Given the description of an element on the screen output the (x, y) to click on. 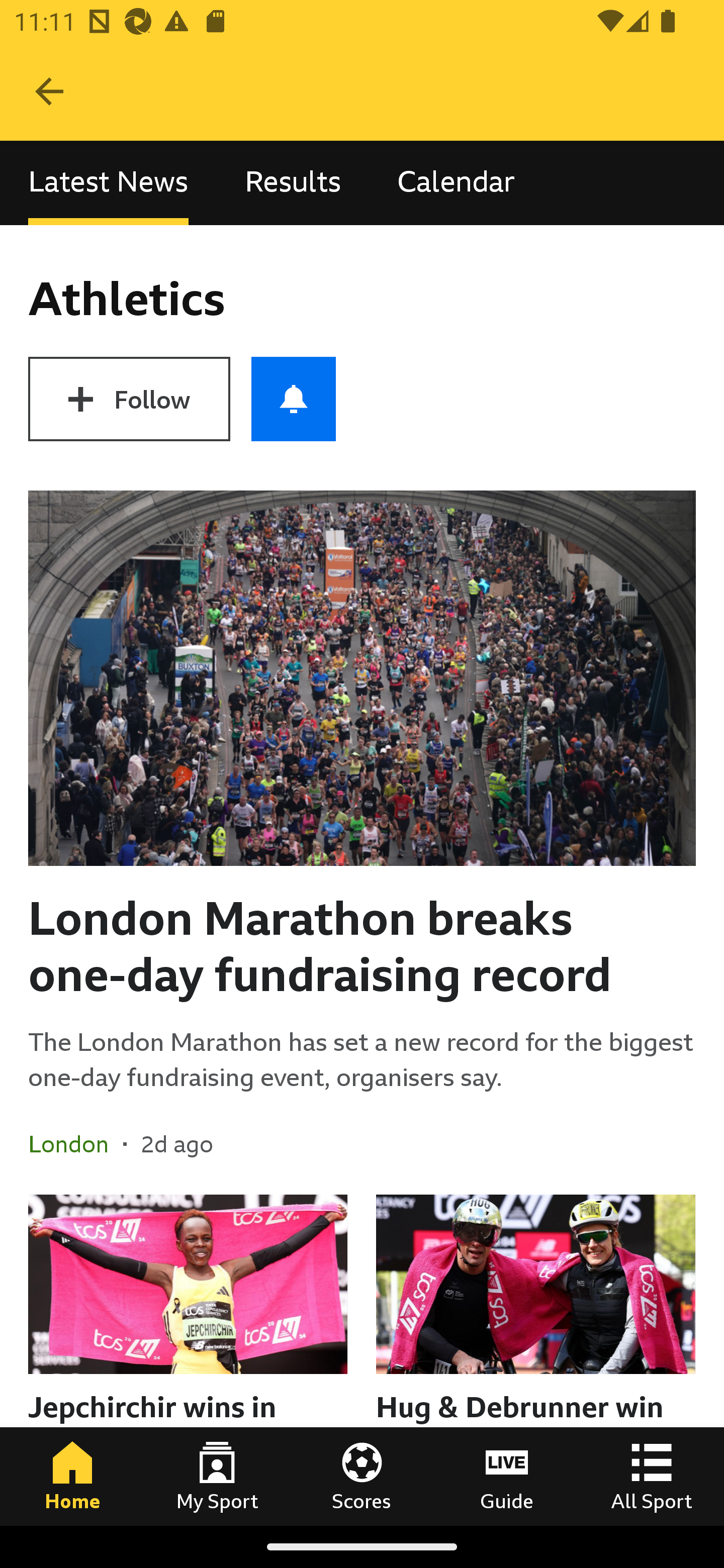
Navigate up (49, 91)
Latest News, selected Latest News (108, 183)
Results (292, 183)
Calendar (456, 183)
Follow Athletics Follow (129, 398)
Push notifications for Athletics (293, 398)
London In the section London (75, 1143)
My Sport (216, 1475)
Scores (361, 1475)
Guide (506, 1475)
All Sport (651, 1475)
